Given the description of an element on the screen output the (x, y) to click on. 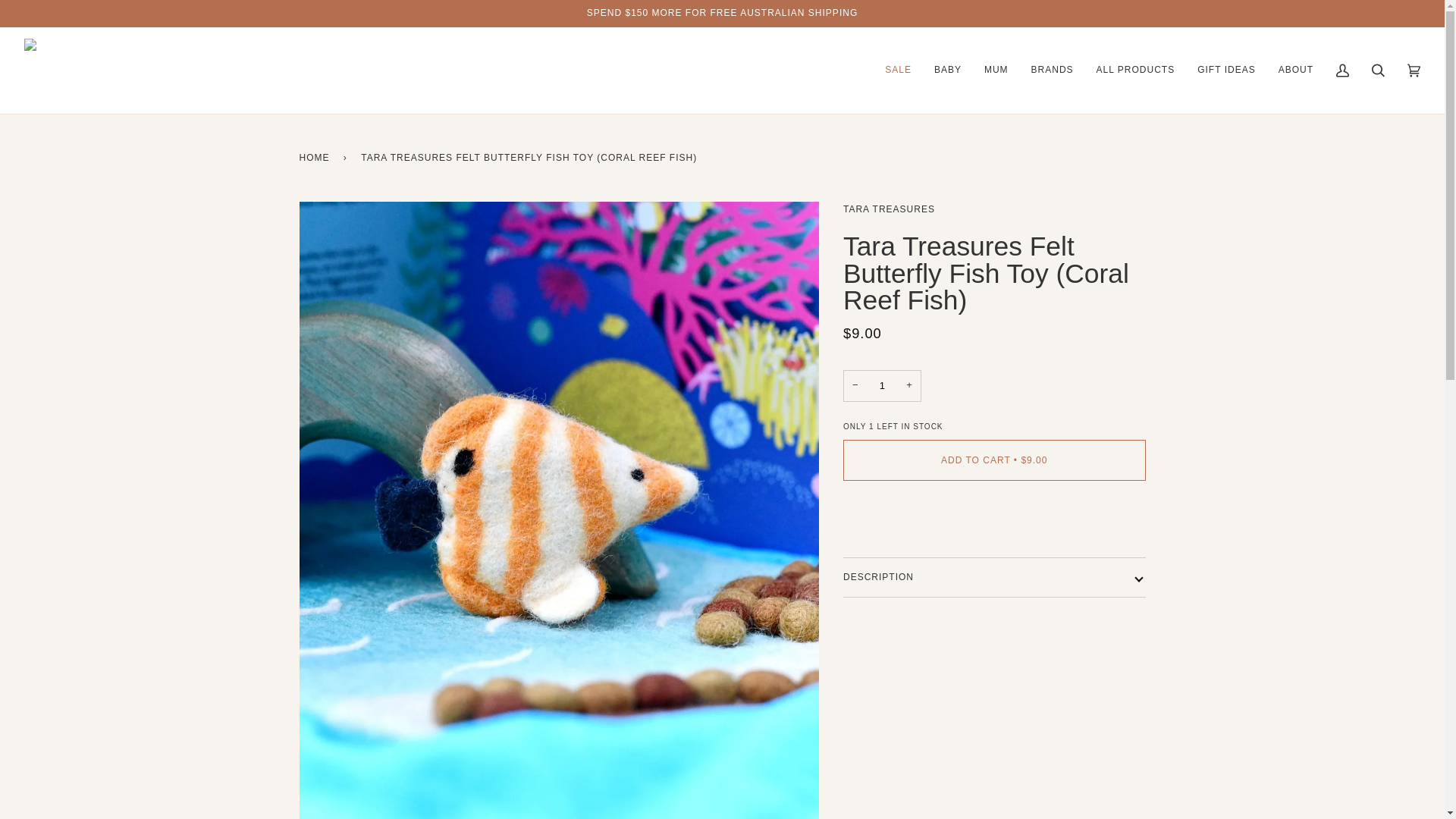
ALL PRODUCTS (1135, 70)
1 (882, 386)
Back to the frontpage (316, 157)
